Given the description of an element on the screen output the (x, y) to click on. 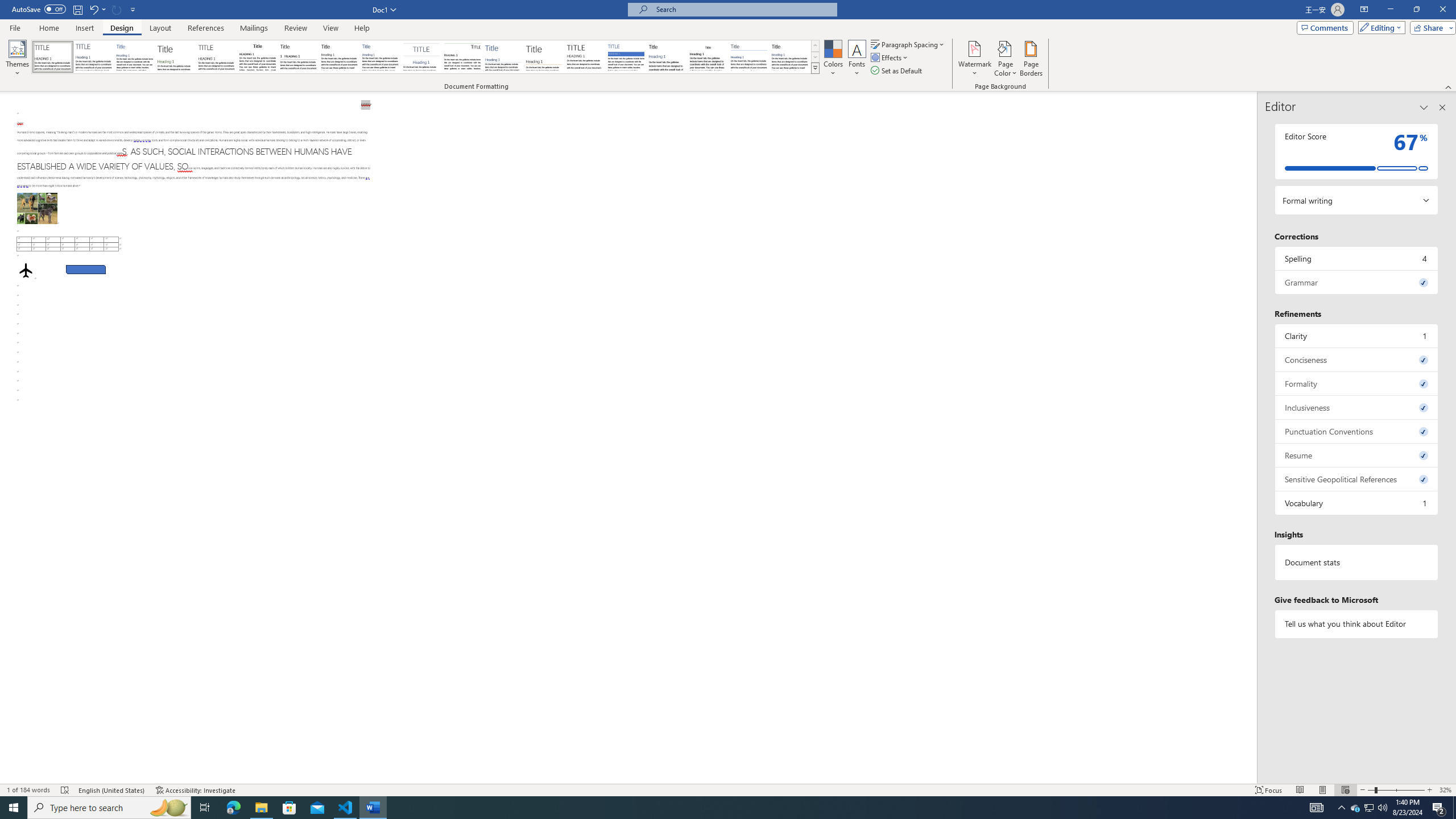
Editing (1379, 27)
Grammar, 0 issues. Press space or enter to review items. (1356, 282)
Black & White (Numbered) (298, 56)
Effects (890, 56)
Black & White (Classic) (257, 56)
Undo Paragraph Alignment (96, 9)
Casual (379, 56)
Language English (United States) (111, 790)
Shaded (625, 56)
AutomationID: QuickStylesSets (425, 56)
Page Color (1005, 58)
